Given the description of an element on the screen output the (x, y) to click on. 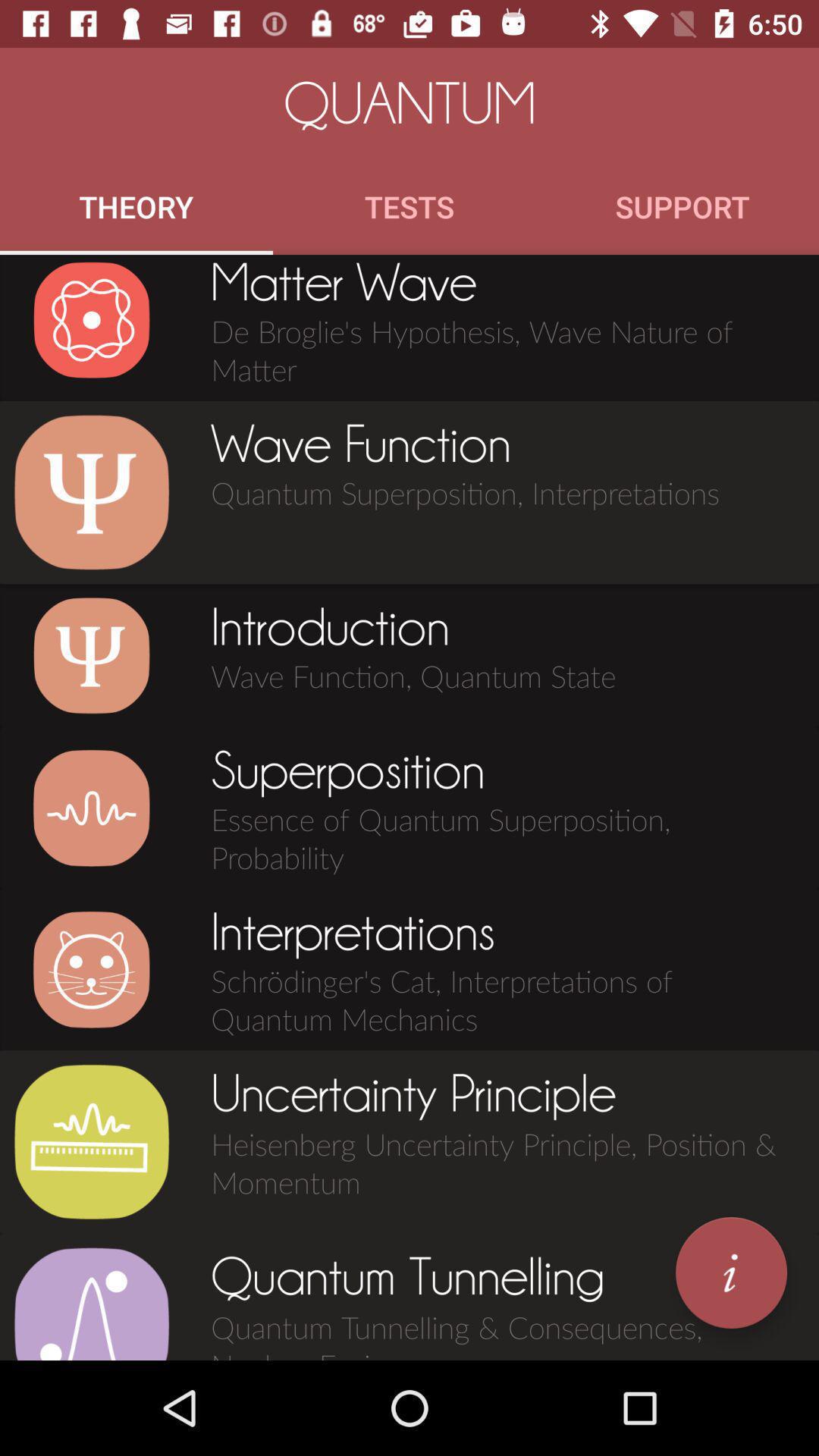
click on icon (91, 655)
